Given the description of an element on the screen output the (x, y) to click on. 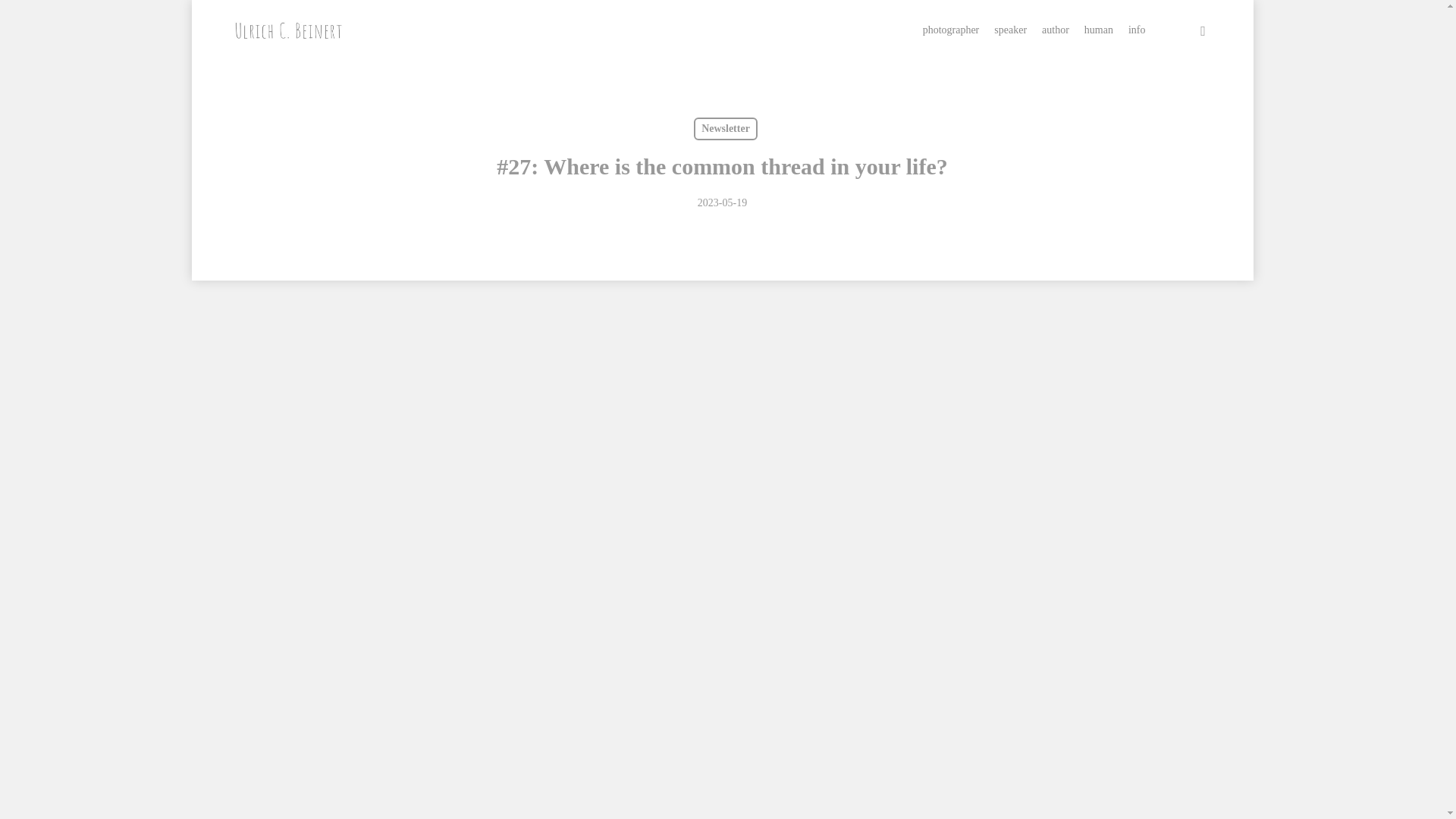
author (1055, 29)
Newsletter (725, 128)
info (1136, 29)
speaker (1010, 29)
photographer (951, 29)
human (1098, 29)
